Given the description of an element on the screen output the (x, y) to click on. 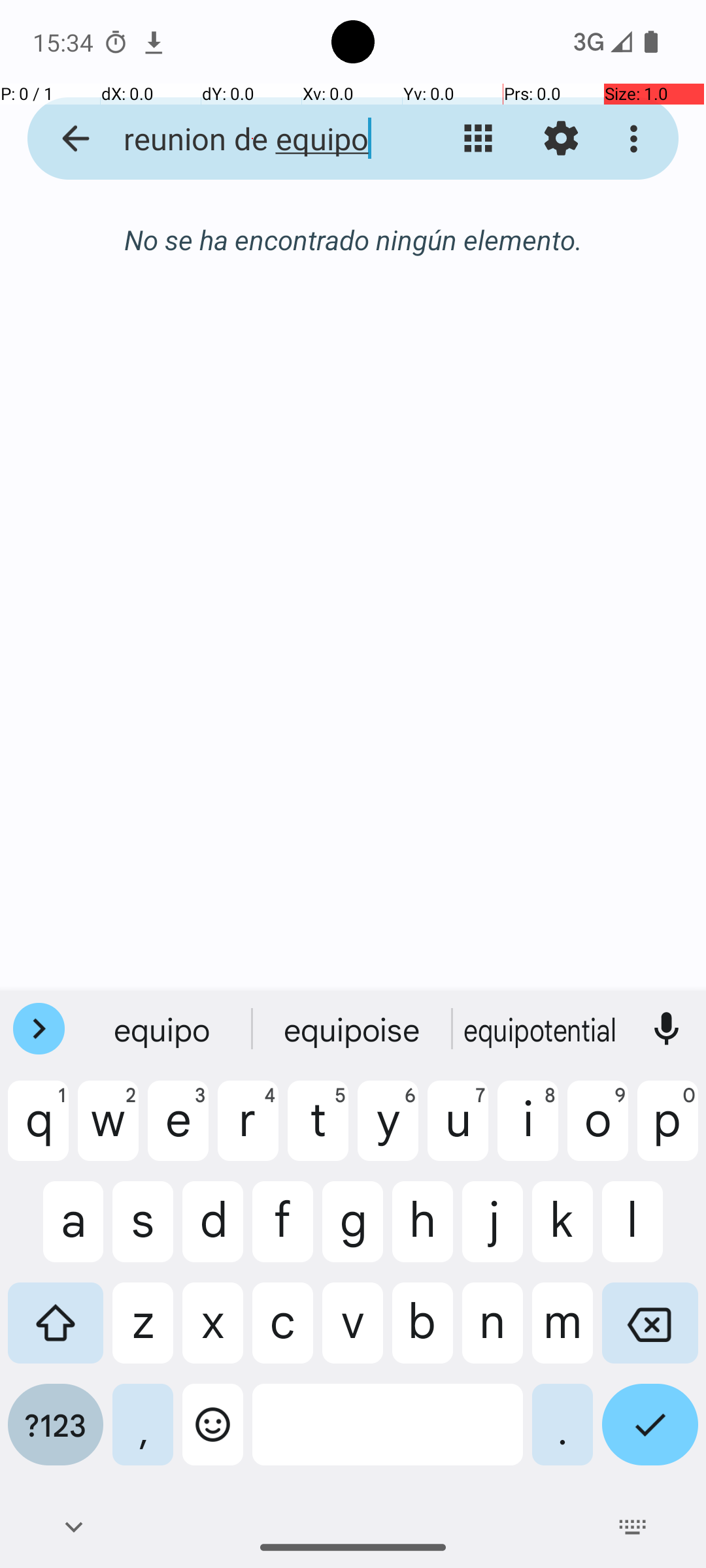
reunion de equipo Element type: android.widget.EditText (252, 138)
Tarea Element type: android.widget.TextView (529, 805)
Evento Element type: android.widget.TextView (522, 915)
equip Element type: android.widget.FrameLayout (163, 1028)
equipment Element type: android.widget.FrameLayout (352, 1028)
equipped Element type: android.widget.FrameLayout (541, 1028)
